Given the description of an element on the screen output the (x, y) to click on. 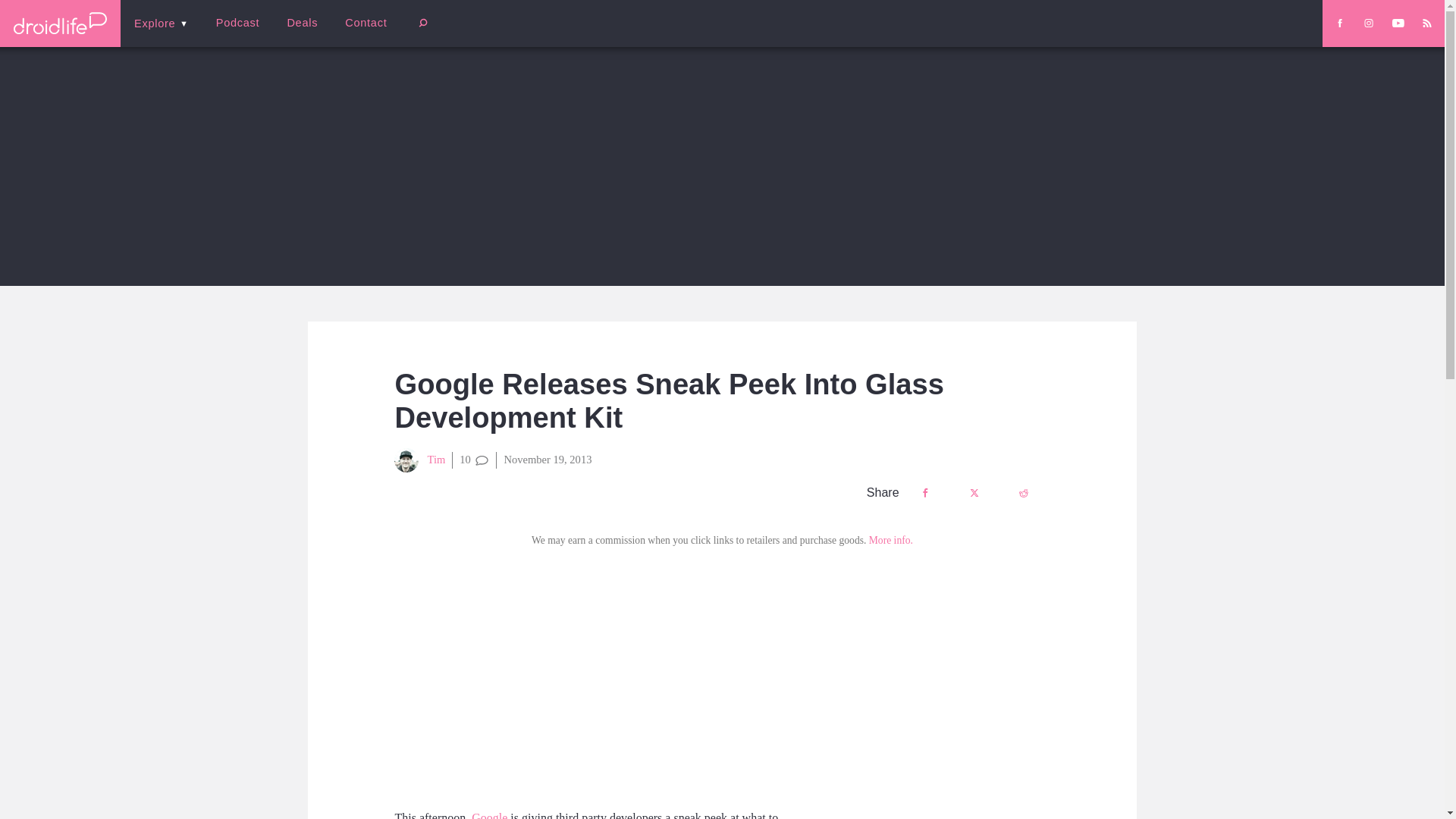
Droid Life on Facebook (1339, 23)
Podcast (237, 23)
Droid Life on YouTube (1398, 23)
Deals (302, 23)
Droid Life RSS (1426, 23)
Beginners' Guide (360, 33)
Glass Development Kit Sneak Peek (601, 678)
Droid Life on Instagram (1368, 23)
Explore (161, 23)
Contact (365, 23)
